Given the description of an element on the screen output the (x, y) to click on. 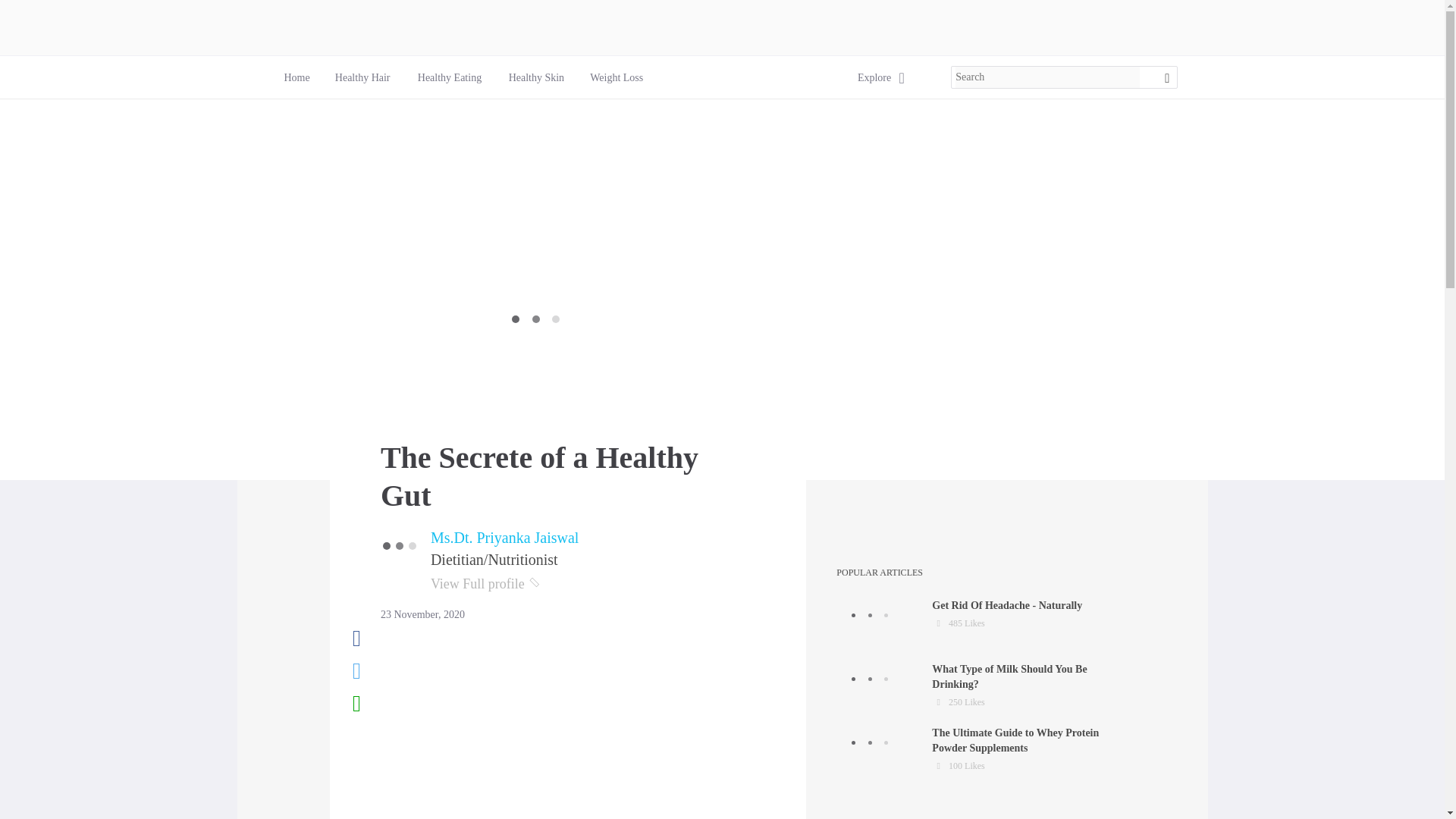
Healthy Skin (535, 77)
Ms.Dt. Priyanka Jaiswal (504, 537)
Weight Loss (616, 77)
Healthy Eating (449, 77)
Explore (874, 77)
Weight Loss (616, 77)
Healthy Hair (362, 77)
Healthy Eating (450, 77)
Healthy Skin (536, 77)
